Given the description of an element on the screen output the (x, y) to click on. 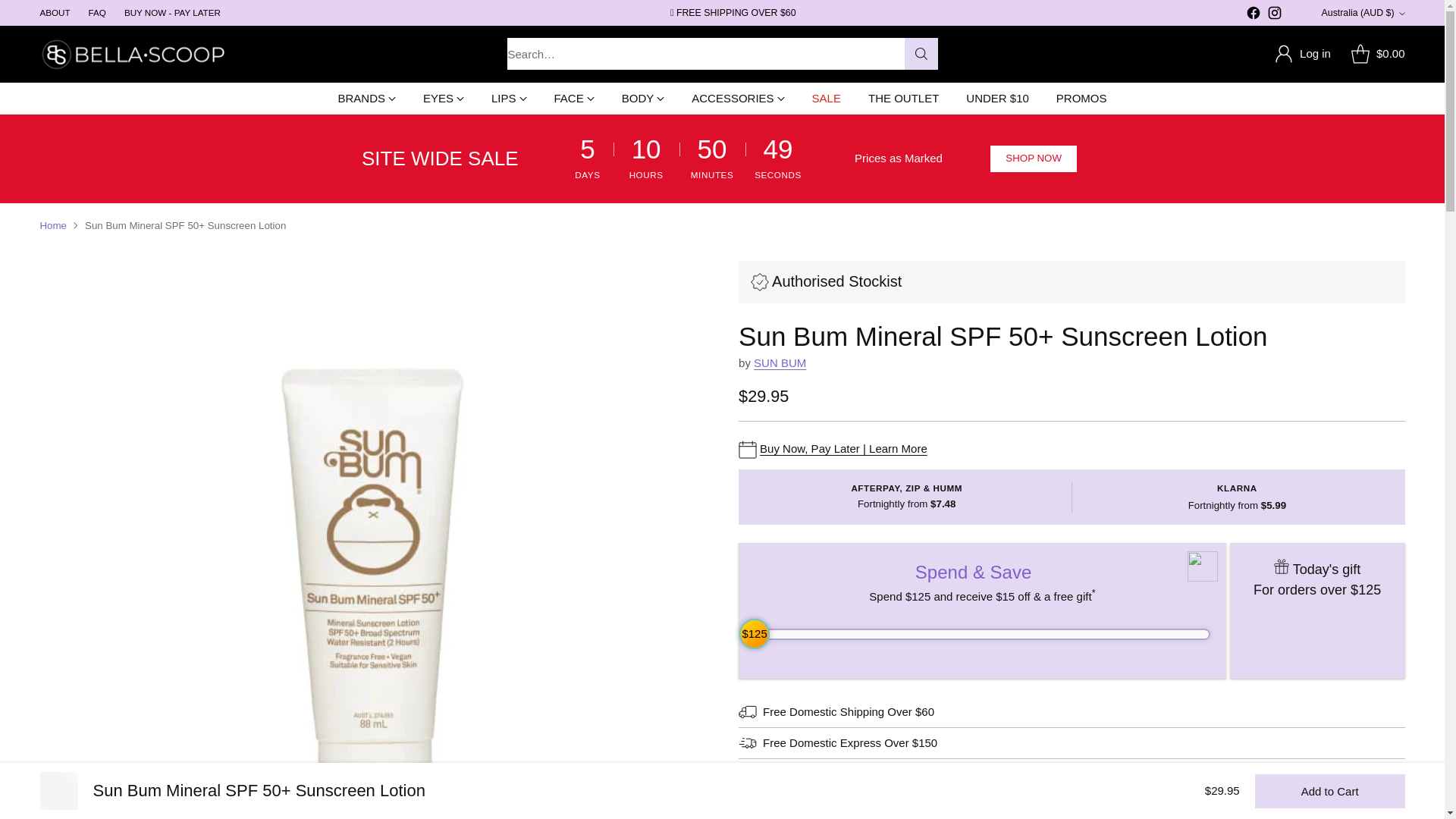
FAQ (97, 11)
SUN BUM (780, 362)
ABOUT (54, 11)
BUY NOW - PAY LATER (172, 11)
